Given the description of an element on the screen output the (x, y) to click on. 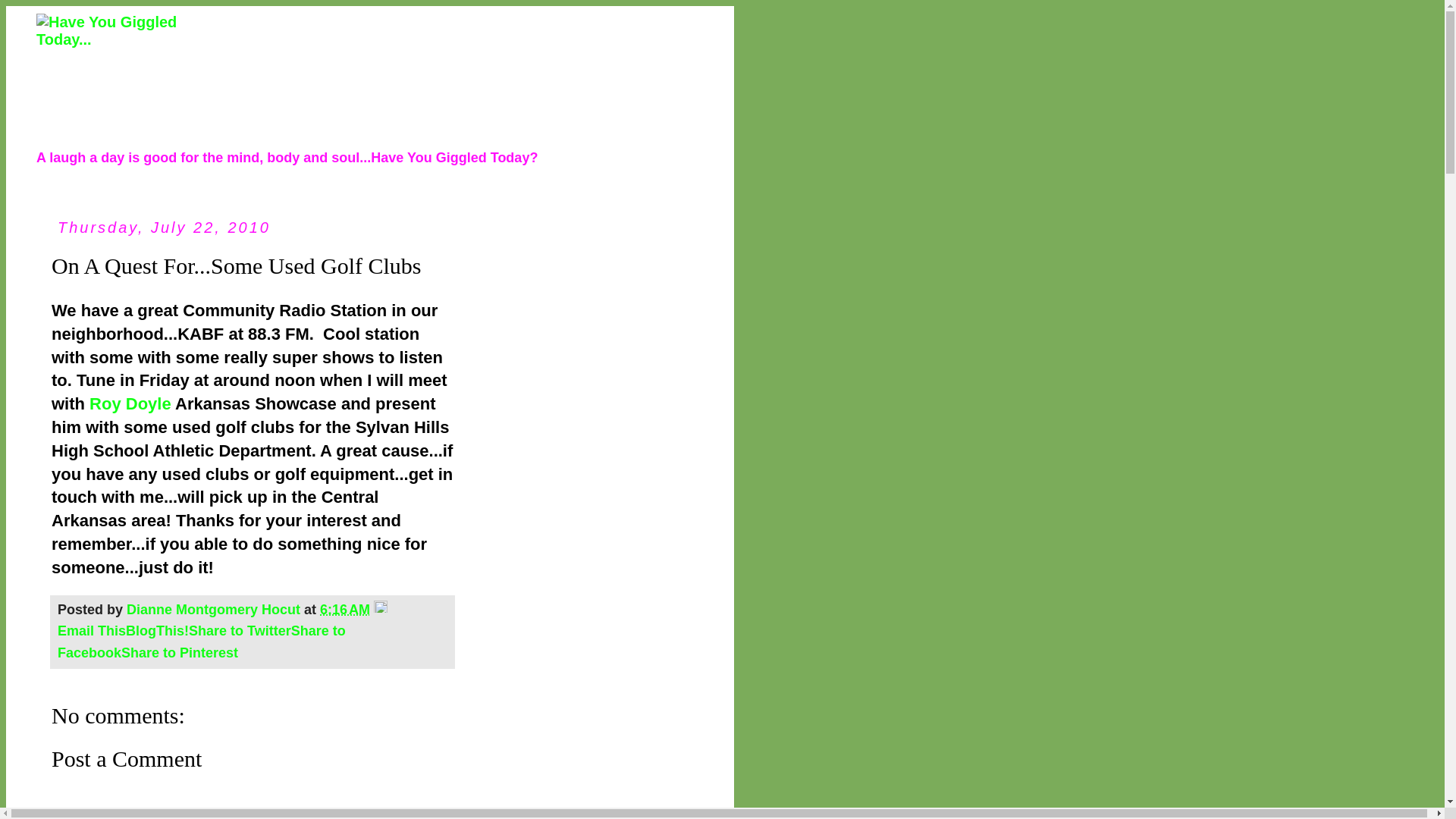
author profile (215, 609)
Dianne Montgomery Hocut (215, 609)
BlogThis! (157, 630)
Roy Doyle (129, 403)
Share to Facebook (202, 641)
Email This (91, 630)
Share to Facebook (202, 641)
Email This (91, 630)
permanent link (344, 609)
Share to Twitter (240, 630)
BlogThis! (157, 630)
Edit Post (380, 609)
Share to Pinterest (179, 652)
Share to Pinterest (179, 652)
